Given the description of an element on the screen output the (x, y) to click on. 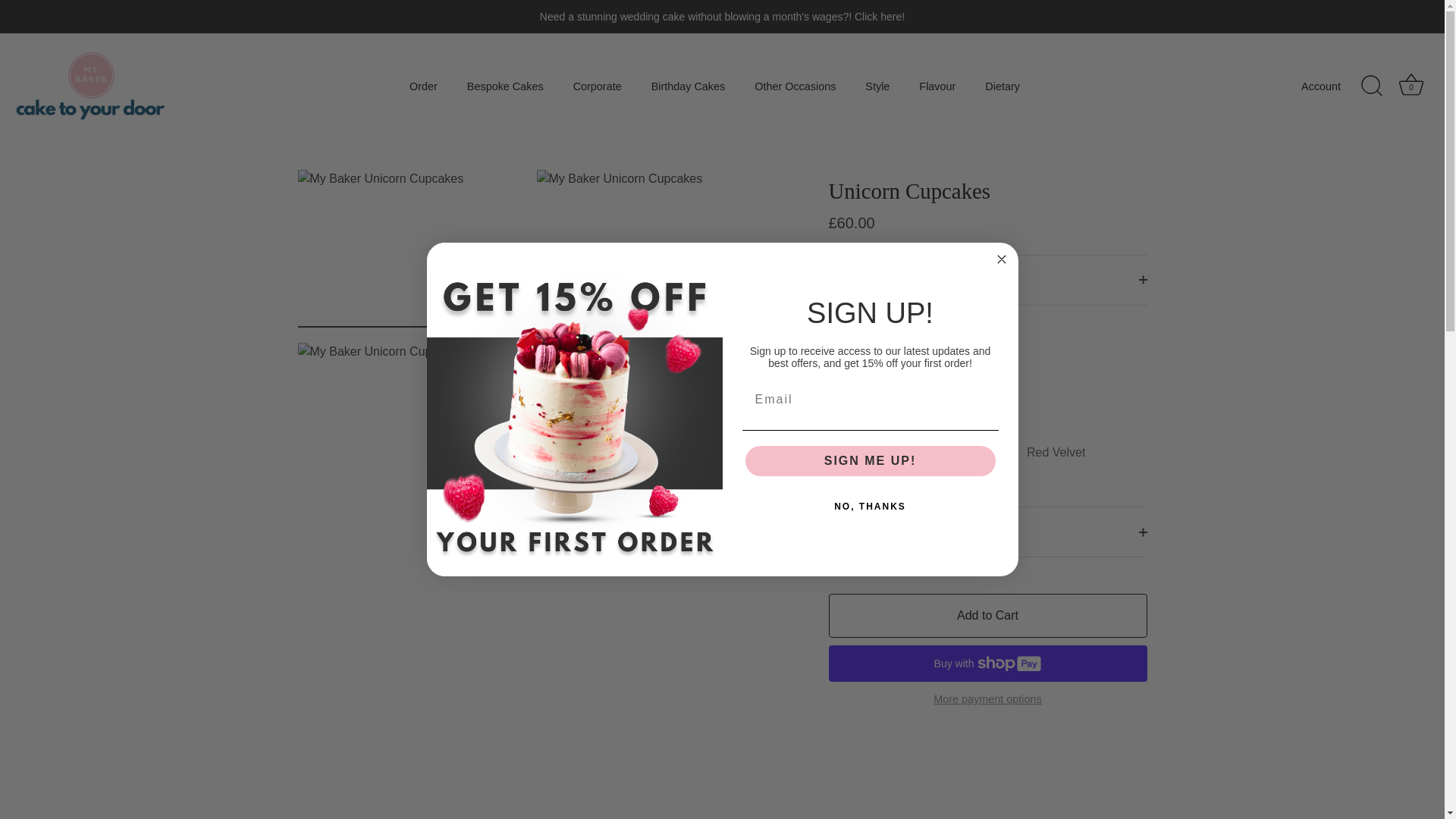
Order (422, 85)
Corporate (596, 85)
Bespoke Cakes (505, 85)
Birthday Cakes (687, 85)
Basket (1410, 84)
